Given the description of an element on the screen output the (x, y) to click on. 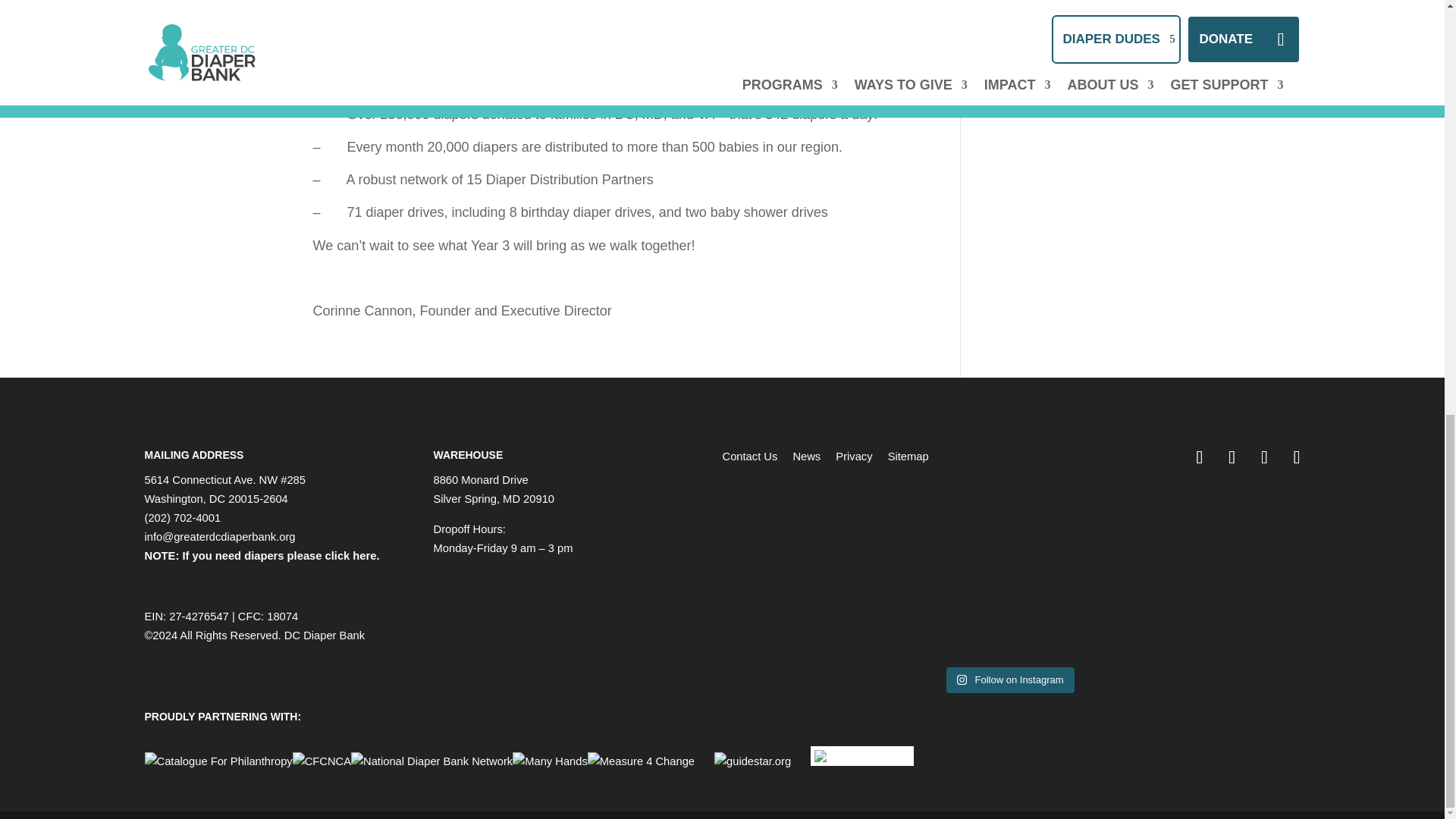
please click here (331, 555)
Privacy (853, 456)
News (806, 456)
Contact Us (749, 456)
